Given the description of an element on the screen output the (x, y) to click on. 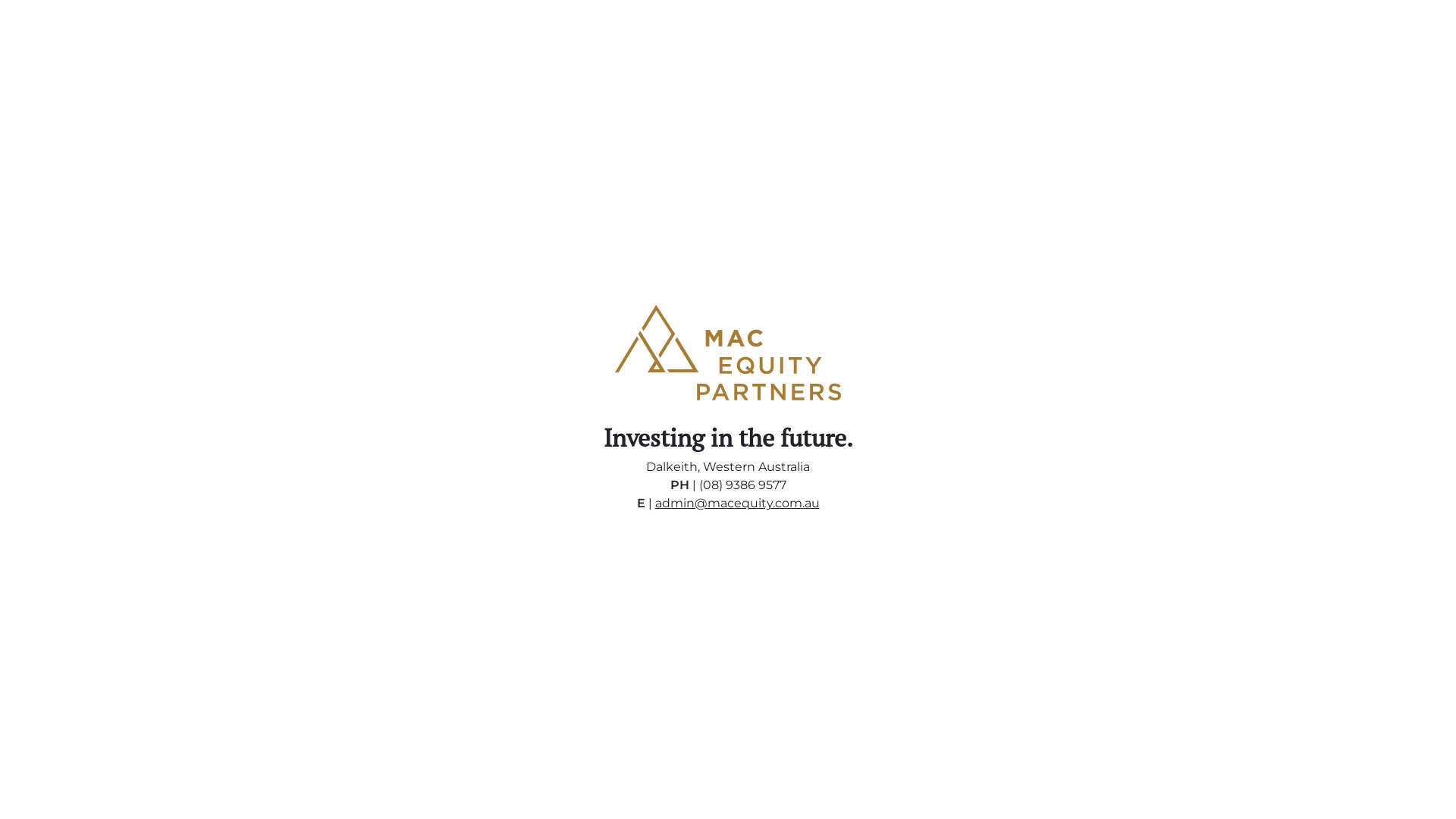
admin@macequity.com.au Element type: text (737, 502)
